Given the description of an element on the screen output the (x, y) to click on. 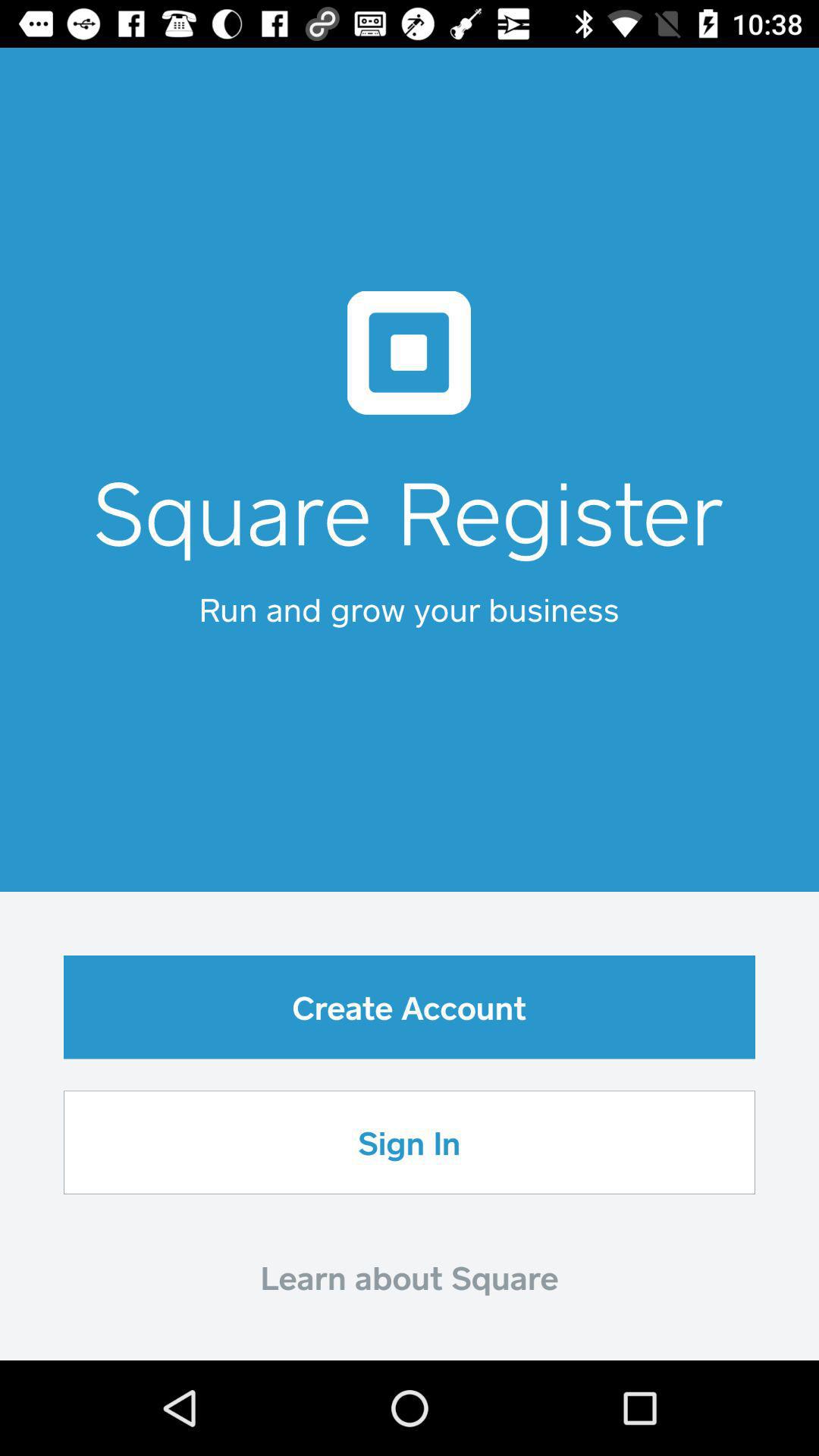
press the icon above learn about square (409, 1142)
